Given the description of an element on the screen output the (x, y) to click on. 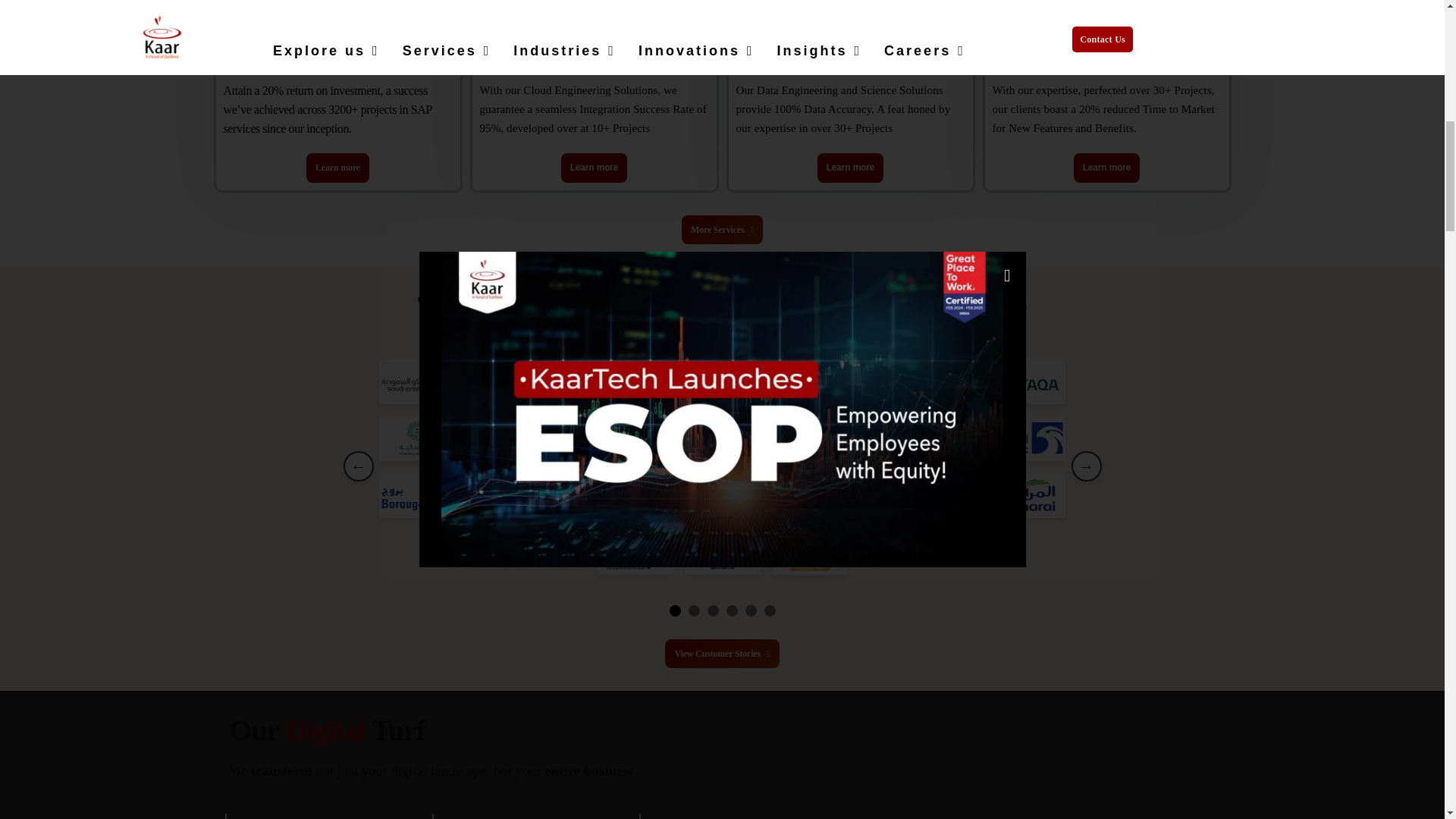
data-engineering (757, 7)
cloudfile (501, 7)
sap-transformation (244, 7)
monitor-1-transformed (1013, 7)
